Given the description of an element on the screen output the (x, y) to click on. 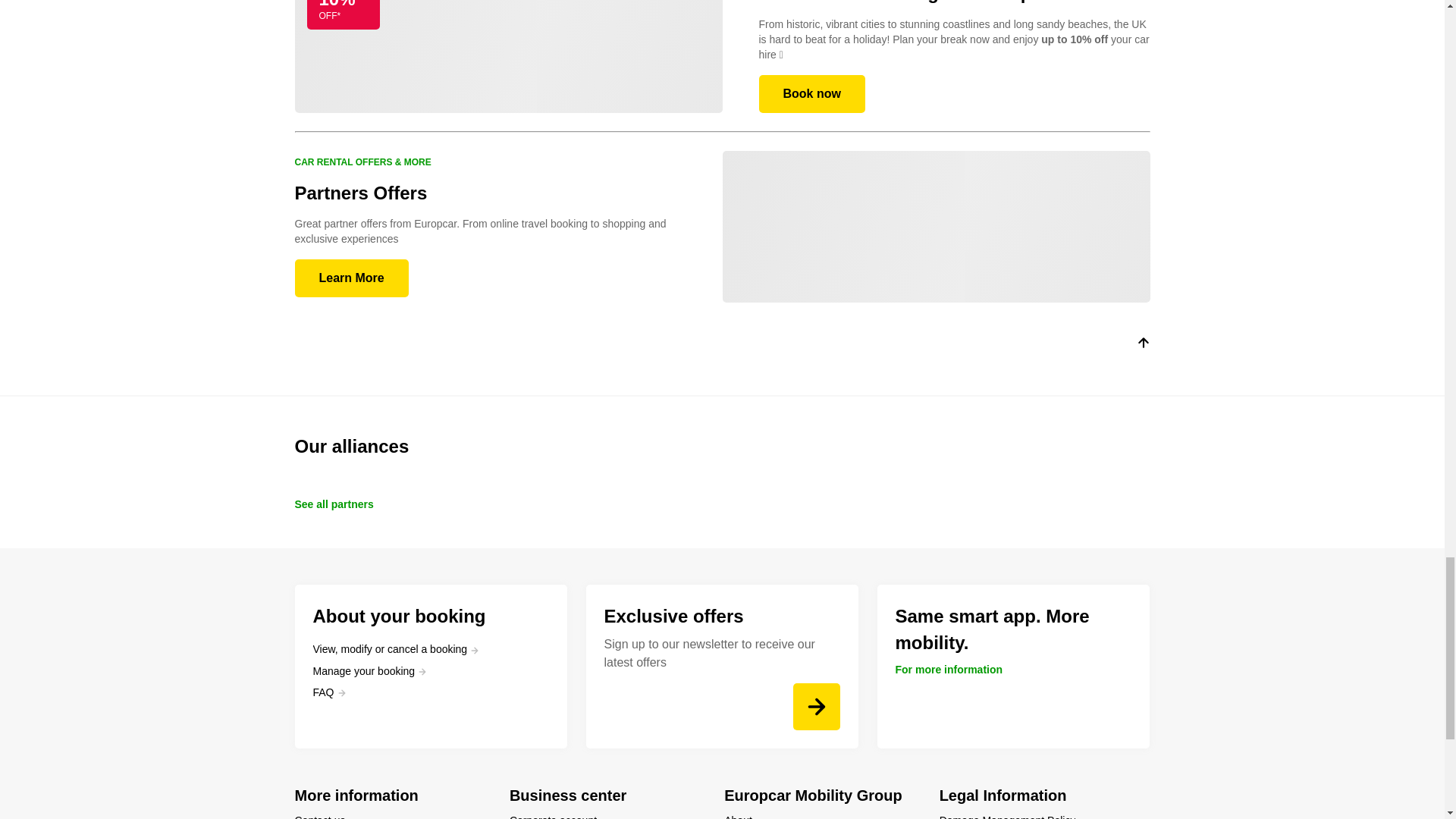
More information (392, 795)
top (1142, 345)
Manage your booking (369, 670)
Learn More (350, 278)
See all partners (333, 503)
Our alliances (722, 446)
Book now (811, 94)
View, modify or cancel a booking (396, 648)
For more information (949, 669)
FAQ (329, 692)
